Given the description of an element on the screen output the (x, y) to click on. 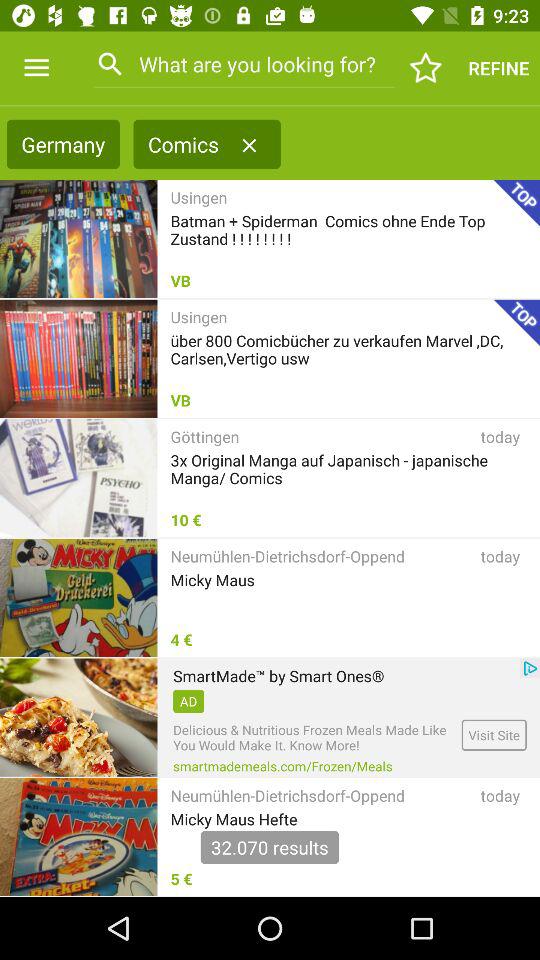
open icon above usingen item (249, 145)
